Given the description of an element on the screen output the (x, y) to click on. 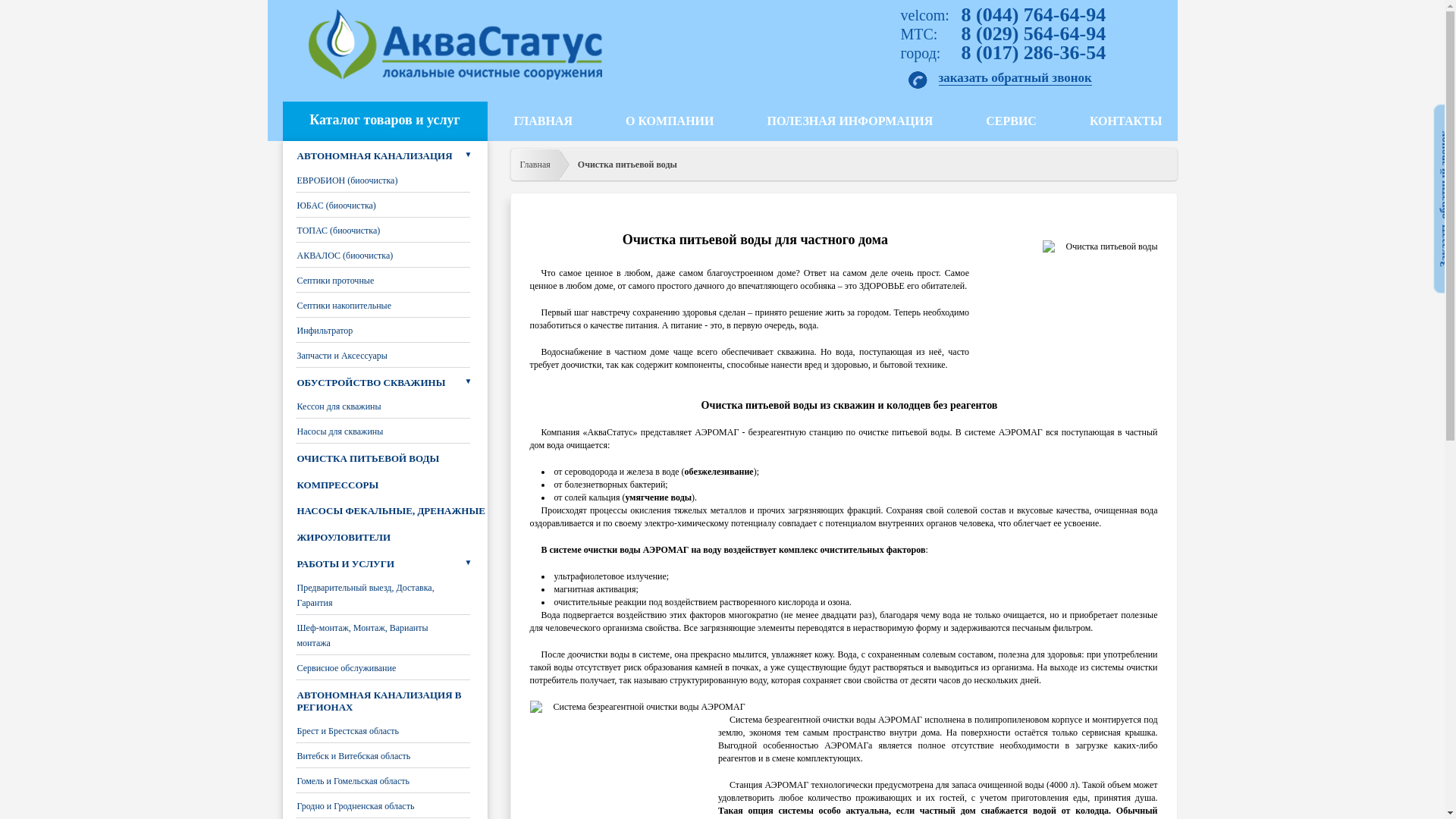
Jump to navigation Element type: text (722, 2)
